Given the description of an element on the screen output the (x, y) to click on. 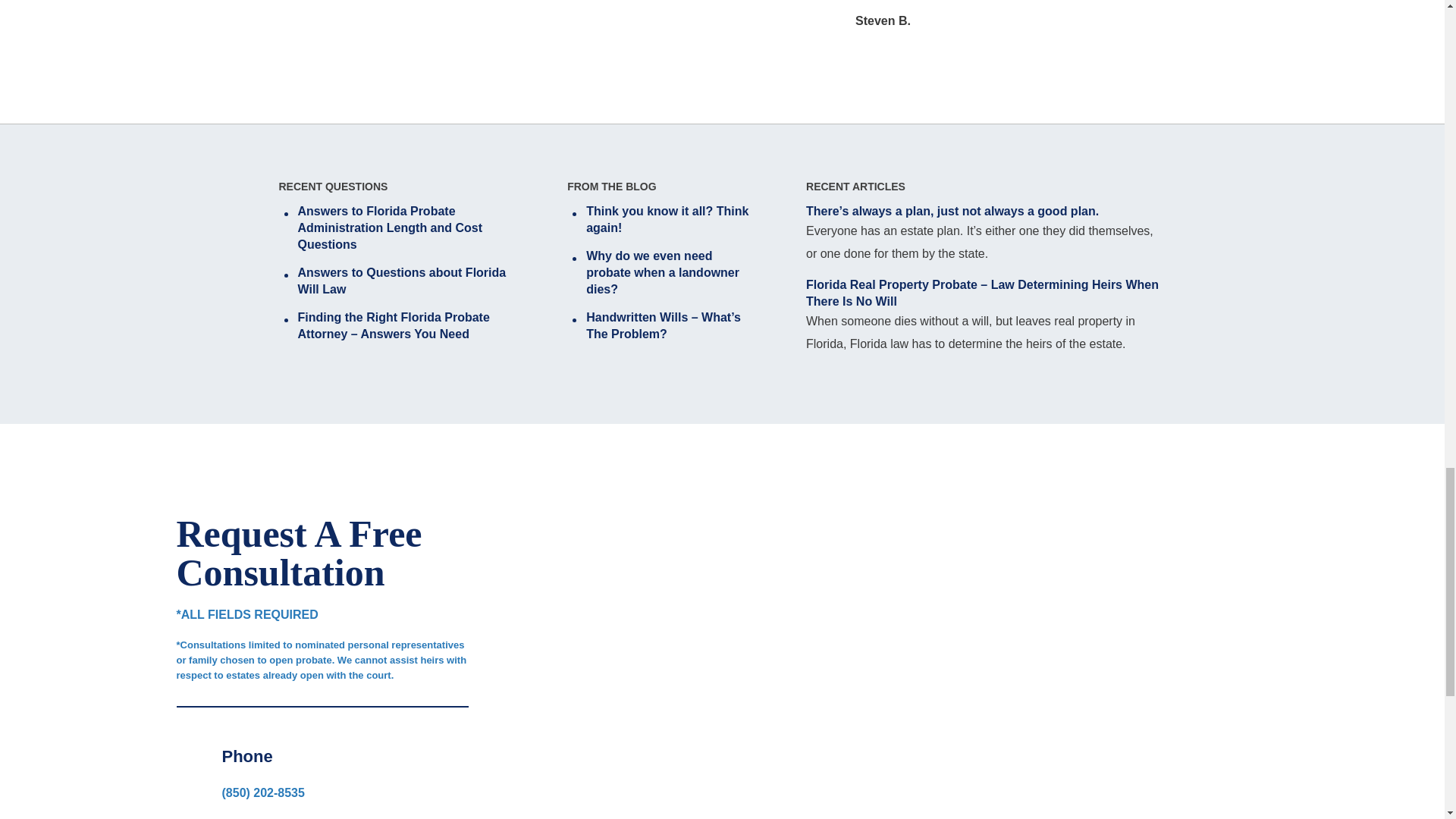
Why do we even need probate when a landowner dies? (659, 273)
Think you know it all? Think again! (659, 219)
Answers to Questions about Florida Will Law (397, 281)
